Given the description of an element on the screen output the (x, y) to click on. 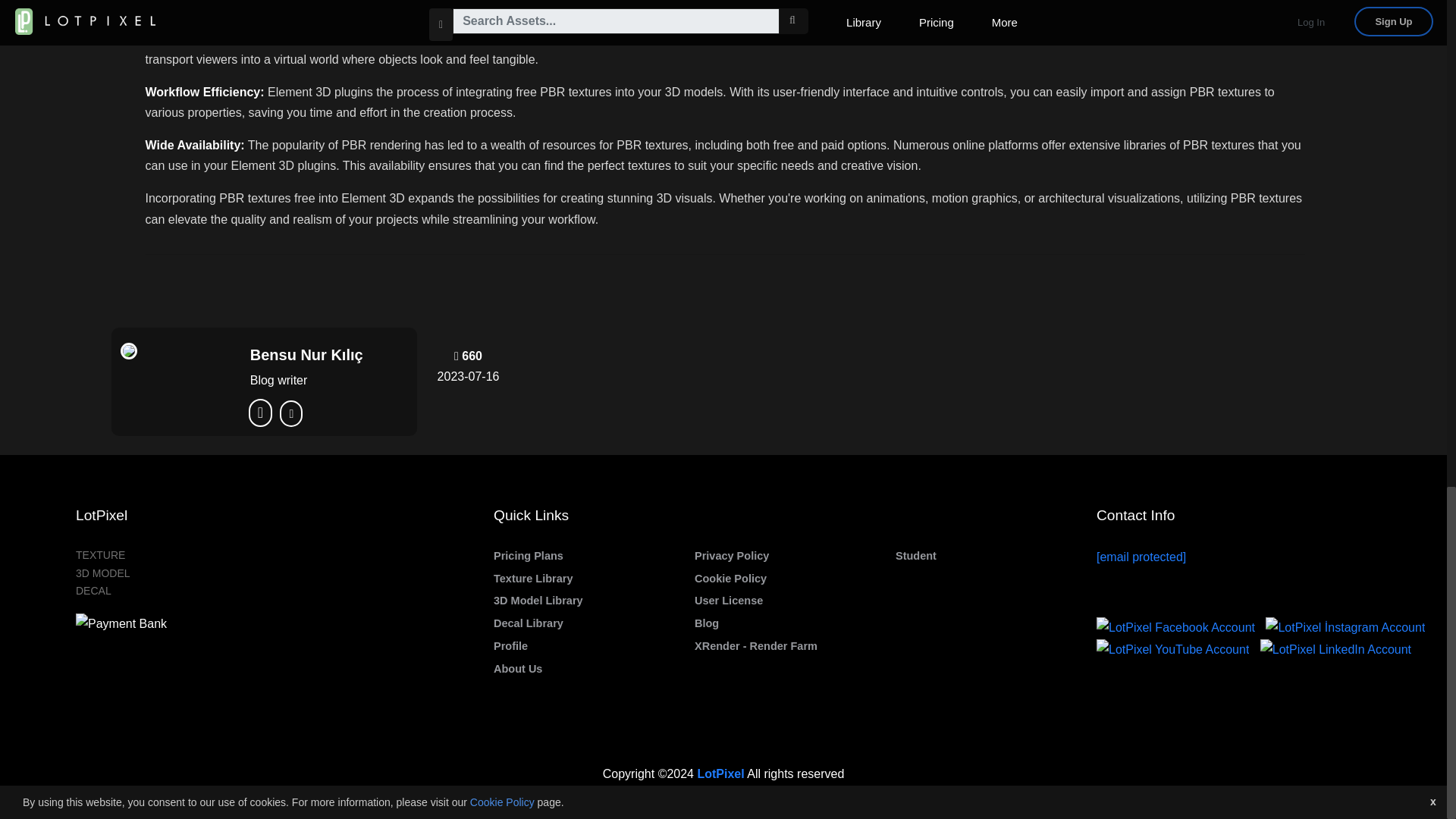
Blog Writer Bensu Nur Kilic (328, 354)
All Texture (533, 578)
Student Promo Code Use Screen (915, 555)
Cookie Policy (730, 578)
All 3D Model (538, 600)
Pricing List (528, 555)
About Us (517, 668)
Privacy Policy (731, 555)
LotPixel Facebook Account (1179, 626)
XRender - Render Farm (755, 645)
